Given the description of an element on the screen output the (x, y) to click on. 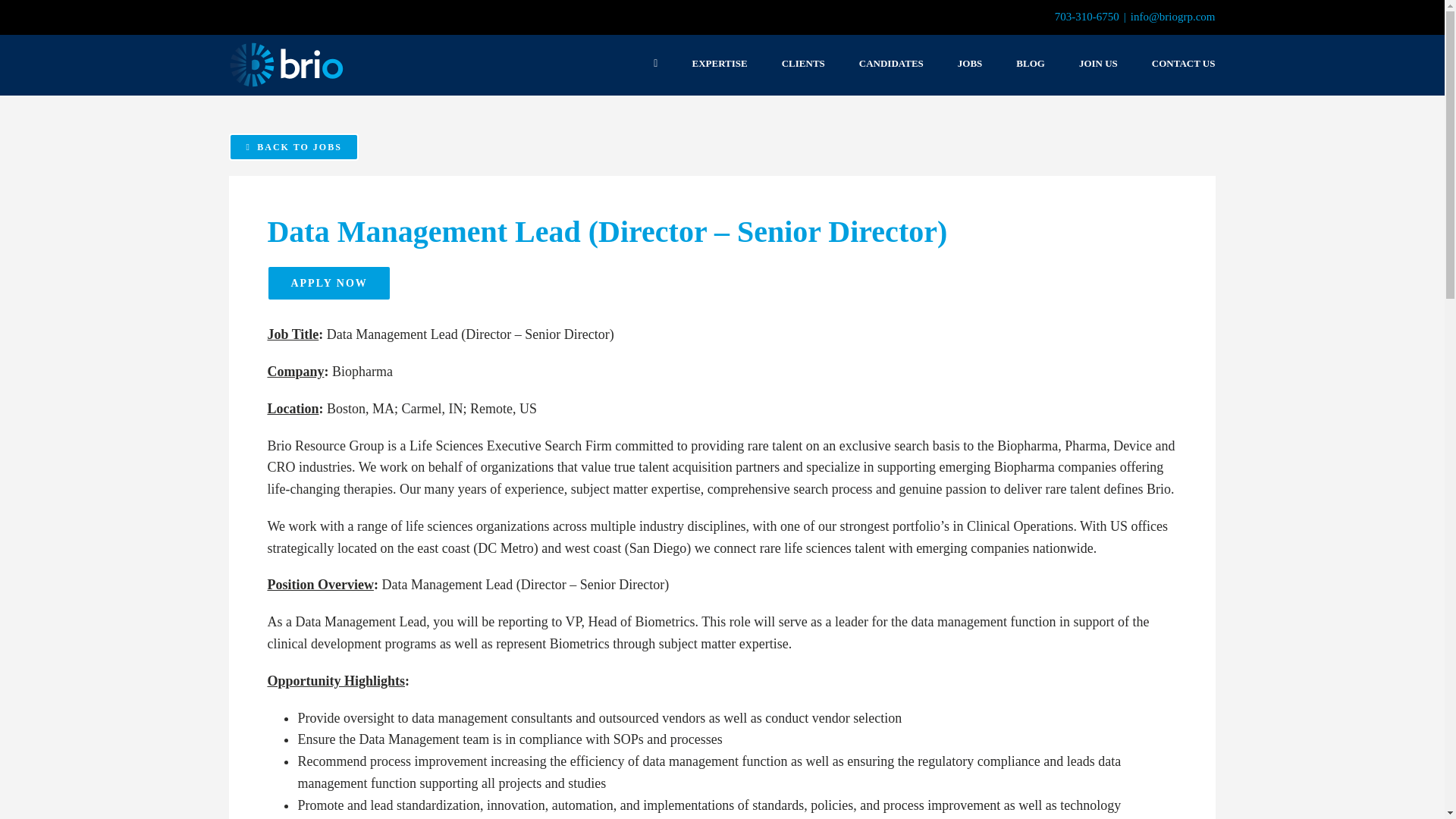
703-310-6750 (1086, 16)
APPLY NOW (328, 283)
CANDIDATES (891, 63)
CONTACT US (1183, 63)
EXPERTISE (718, 63)
BACK TO JOBS (293, 146)
